Given the description of an element on the screen output the (x, y) to click on. 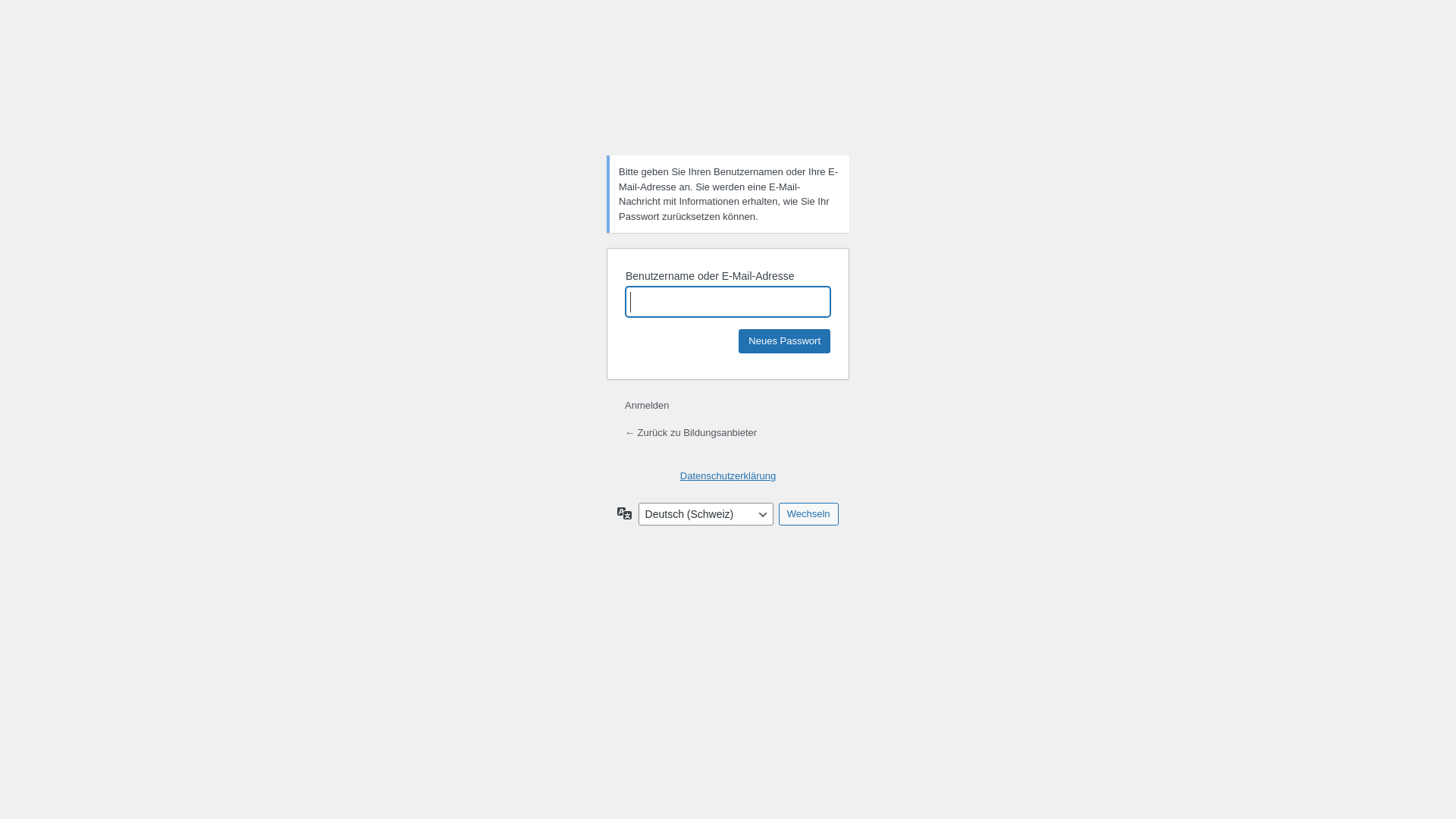
Anmelden Element type: text (646, 405)
Wechseln Element type: text (808, 513)
Powered by WordPress Element type: text (727, 104)
Neues Passwort Element type: text (784, 341)
